Given the description of an element on the screen output the (x, y) to click on. 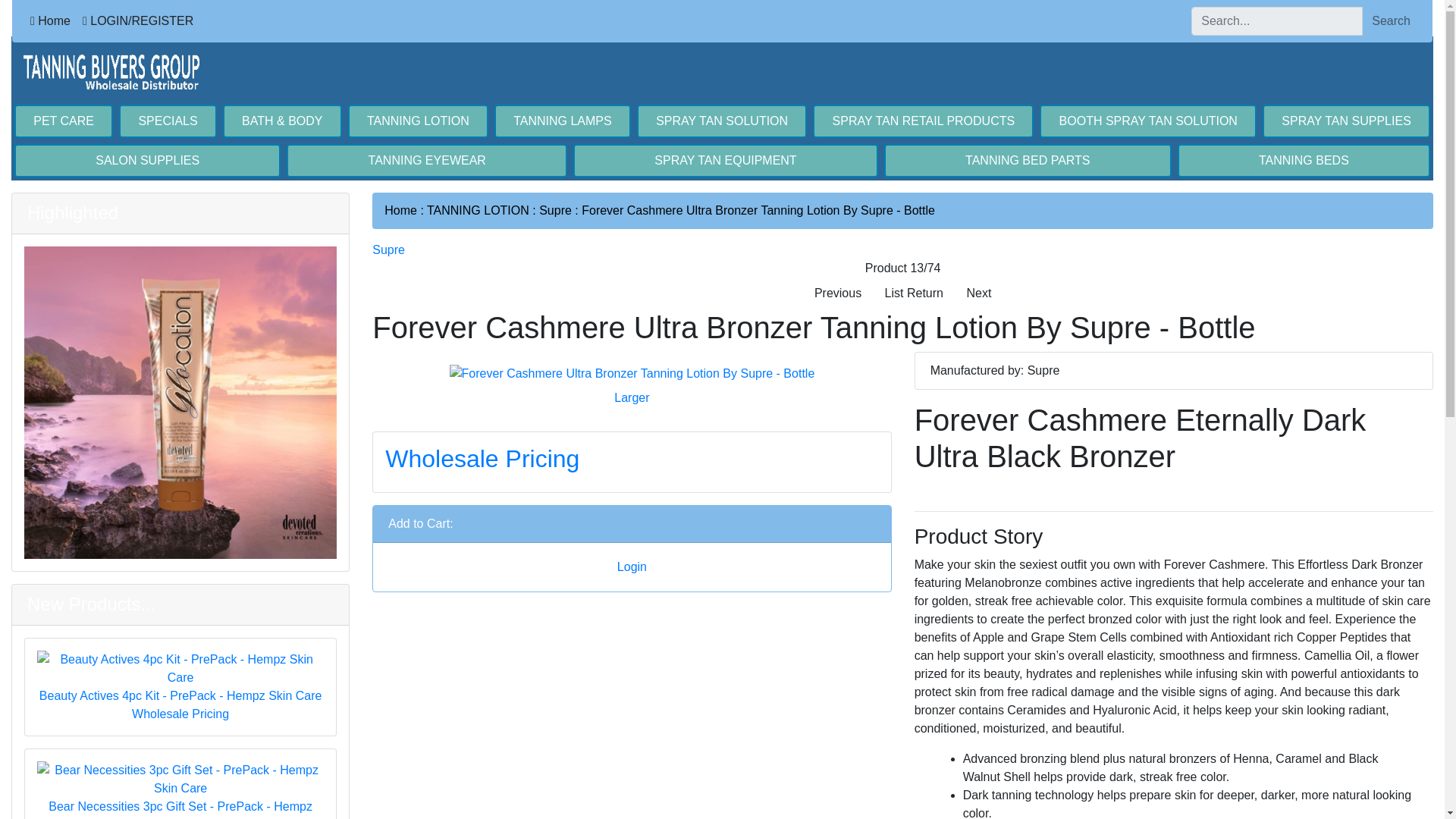
Beauty Actives 4pc Kit - PrePack - Hempz Skin Care (180, 677)
Bear Necessities 3pc Gift Set - PrePack - Hempz Skin Care (180, 790)
TANNING LOTION (417, 121)
PET CARE (63, 121)
Home (50, 20)
SALON SUPPLIES (147, 160)
TANNING BEDS (1303, 160)
Wholesale Pricing (180, 713)
TANNING LAMPS (562, 121)
